Given the description of an element on the screen output the (x, y) to click on. 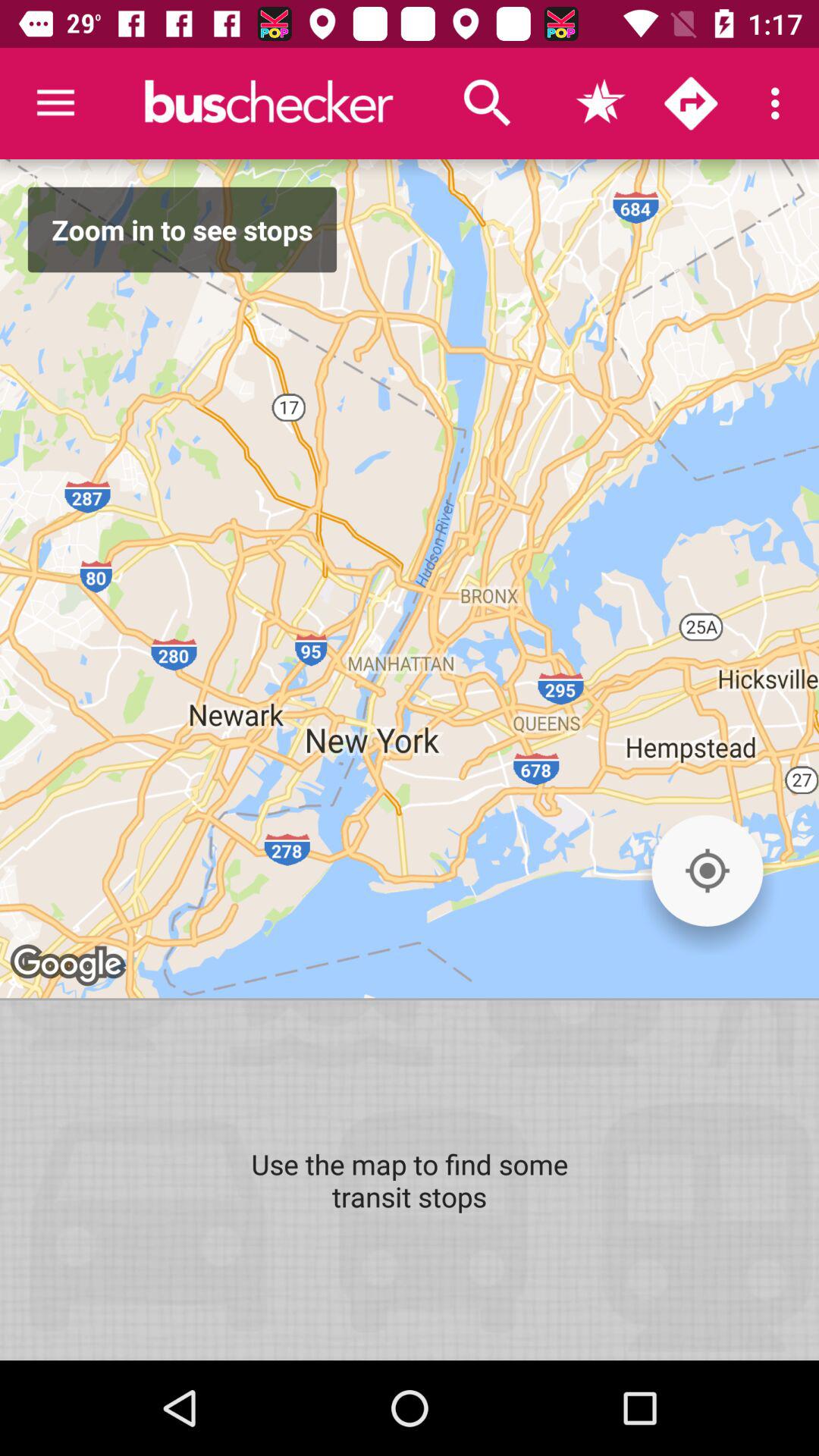
click on favorites icon which is on the right side of search icon (599, 103)
click on the more options symbol (779, 103)
select the text right to the menu (268, 102)
click on the icon right side to the star icon (690, 103)
